Given the description of an element on the screen output the (x, y) to click on. 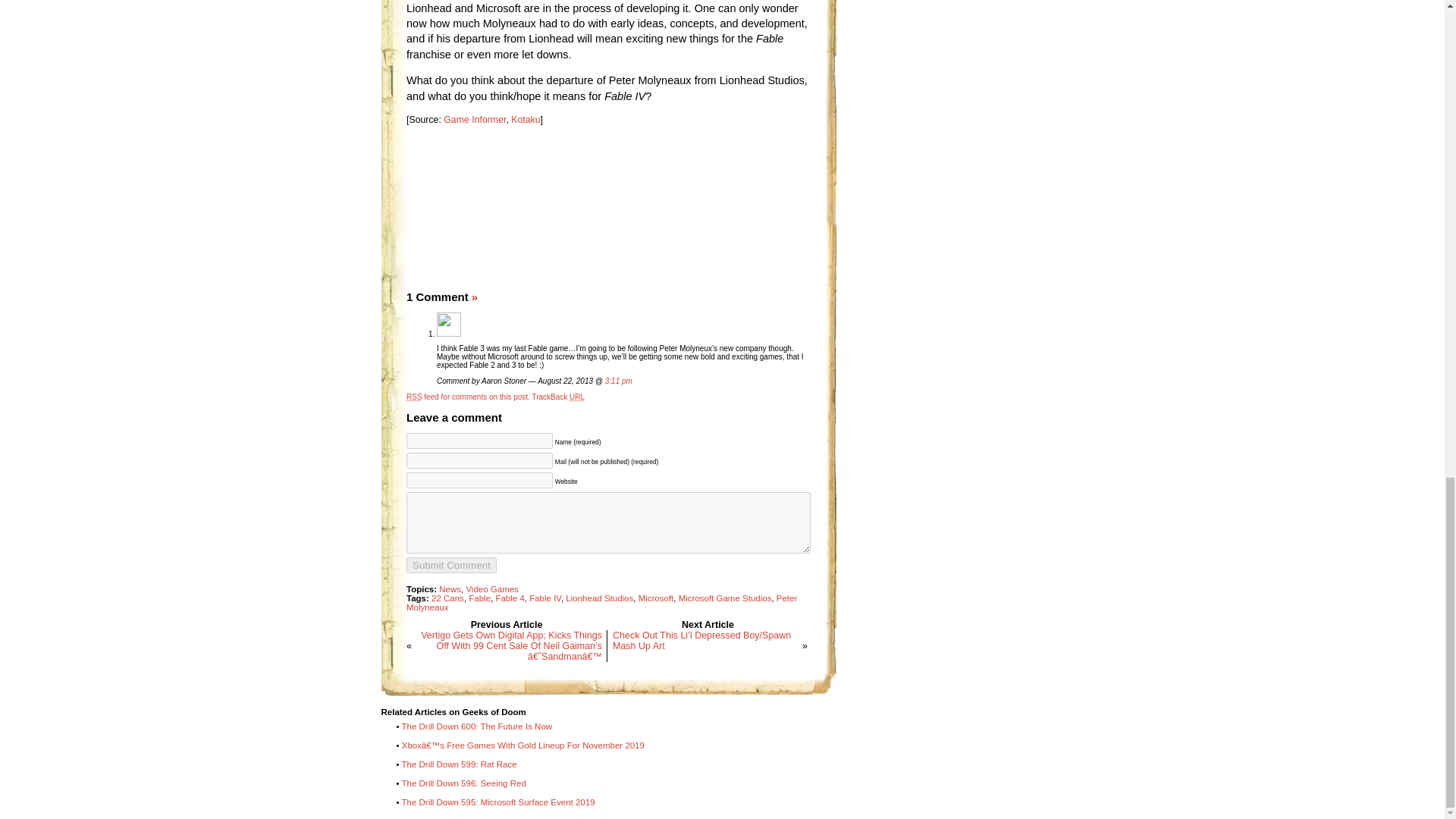
22 Cans (447, 597)
Universal Resource Locator (577, 397)
The Drill Down 596: Seeing Red (463, 782)
Video Games (491, 588)
Game Informer (474, 119)
Submit Comment (451, 565)
Fable (479, 597)
Microsoft (656, 597)
Microsoft Game Studios (724, 597)
TrackBack URL (558, 397)
